Given the description of an element on the screen output the (x, y) to click on. 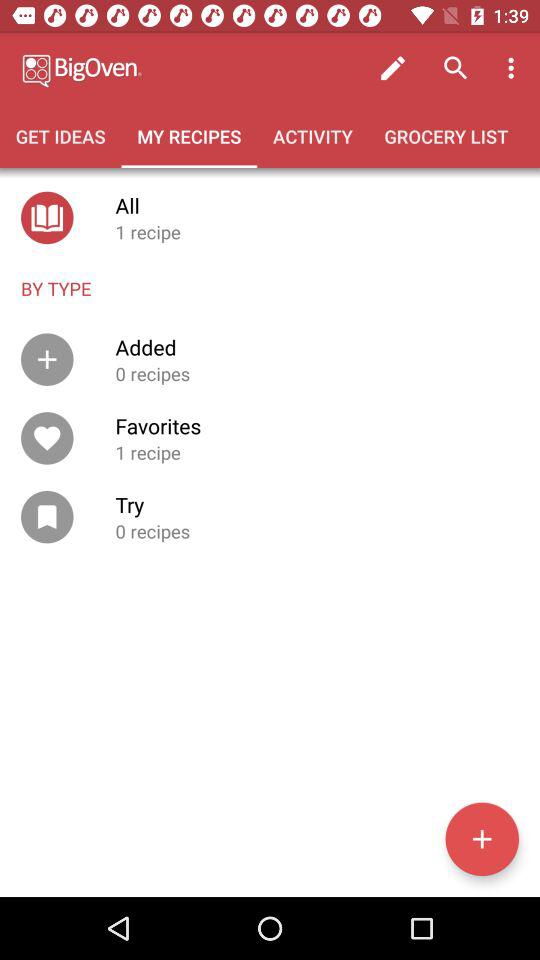
choose the item at the bottom right corner (482, 839)
